Given the description of an element on the screen output the (x, y) to click on. 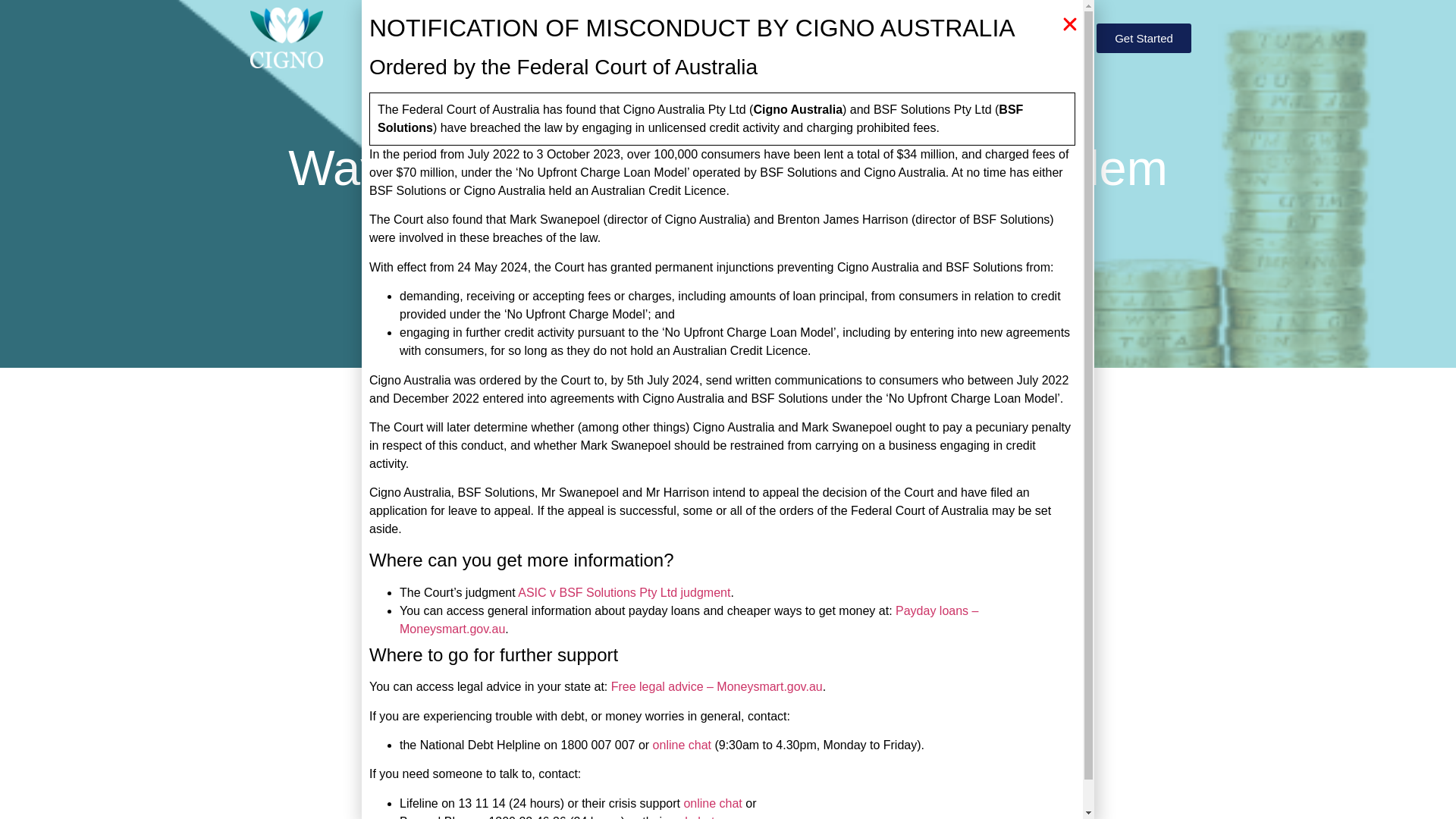
FAQs (768, 37)
How it Works  (481, 37)
About Us (582, 37)
here. (699, 571)
Comparisons (681, 37)
Contact Us (913, 37)
Login (1035, 37)
Get Started (1143, 37)
Blogs (832, 37)
here (698, 682)
credit card use. (513, 757)
